Given the description of an element on the screen output the (x, y) to click on. 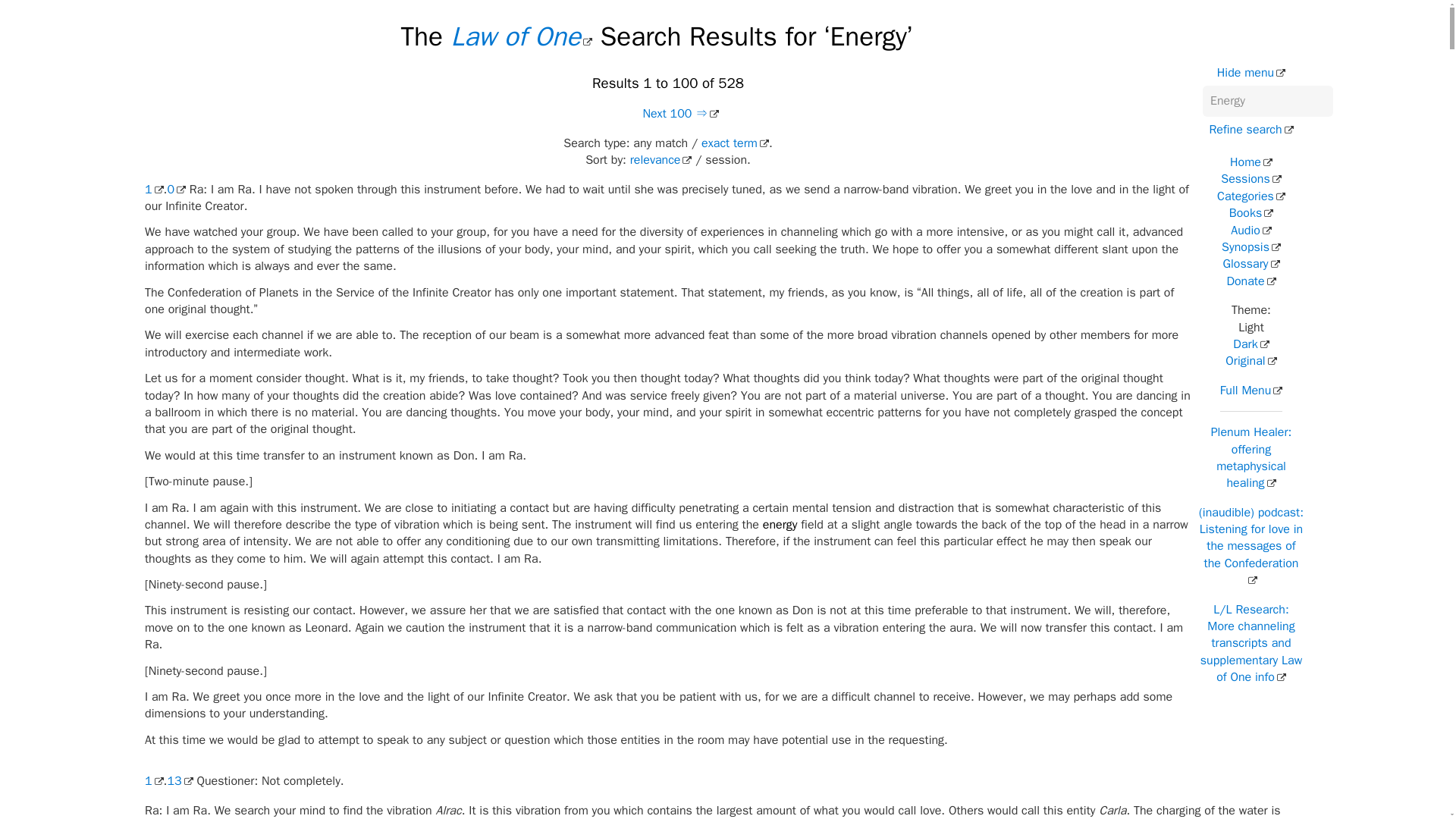
Law of One (521, 36)
13 (179, 780)
exact term (734, 142)
0 (176, 189)
relevance (661, 159)
1 (153, 780)
1 (153, 189)
